Given the description of an element on the screen output the (x, y) to click on. 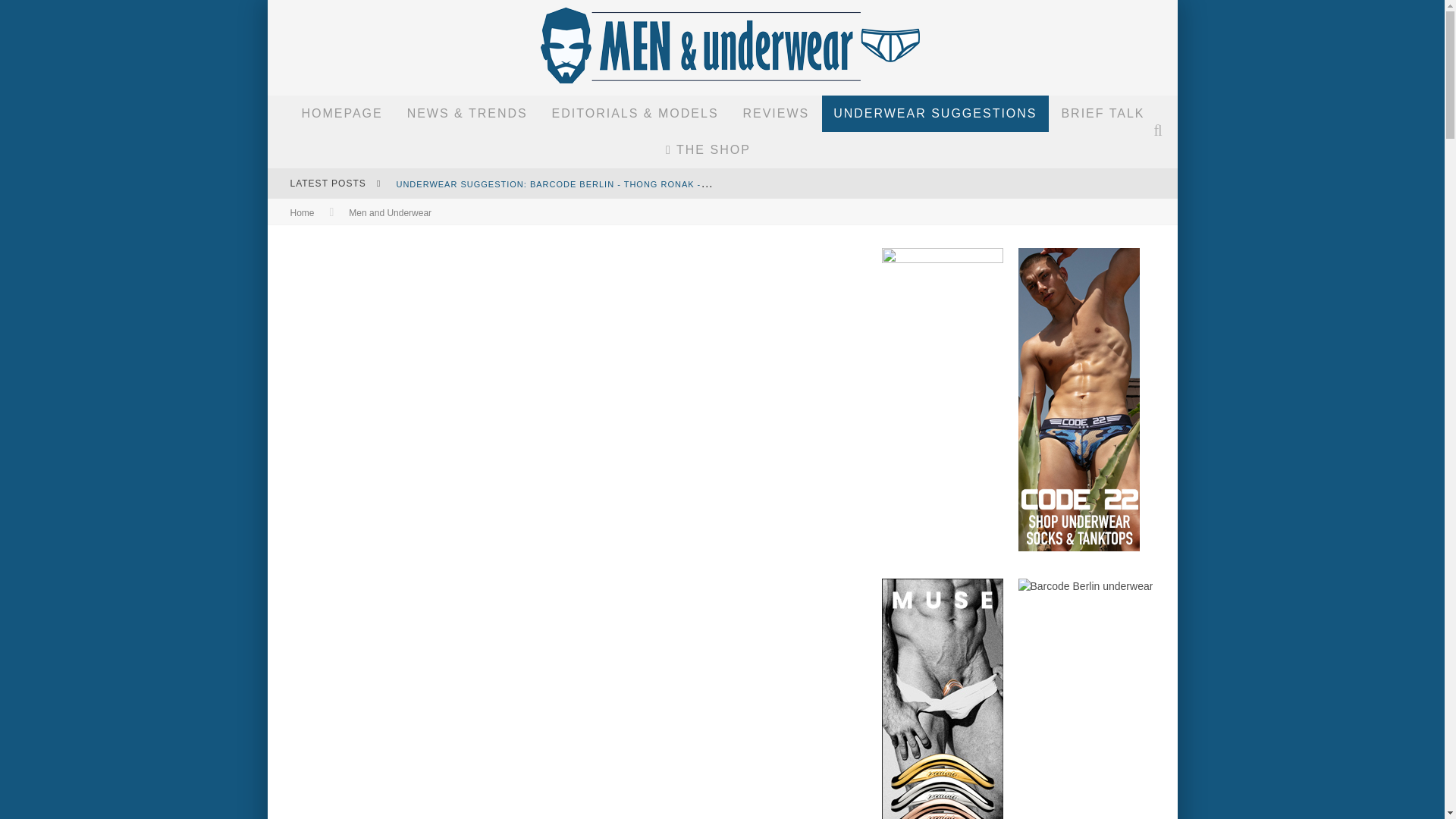
View all posts in Men and Underwear (389, 213)
HOMEPAGE (341, 113)
